Given the description of an element on the screen output the (x, y) to click on. 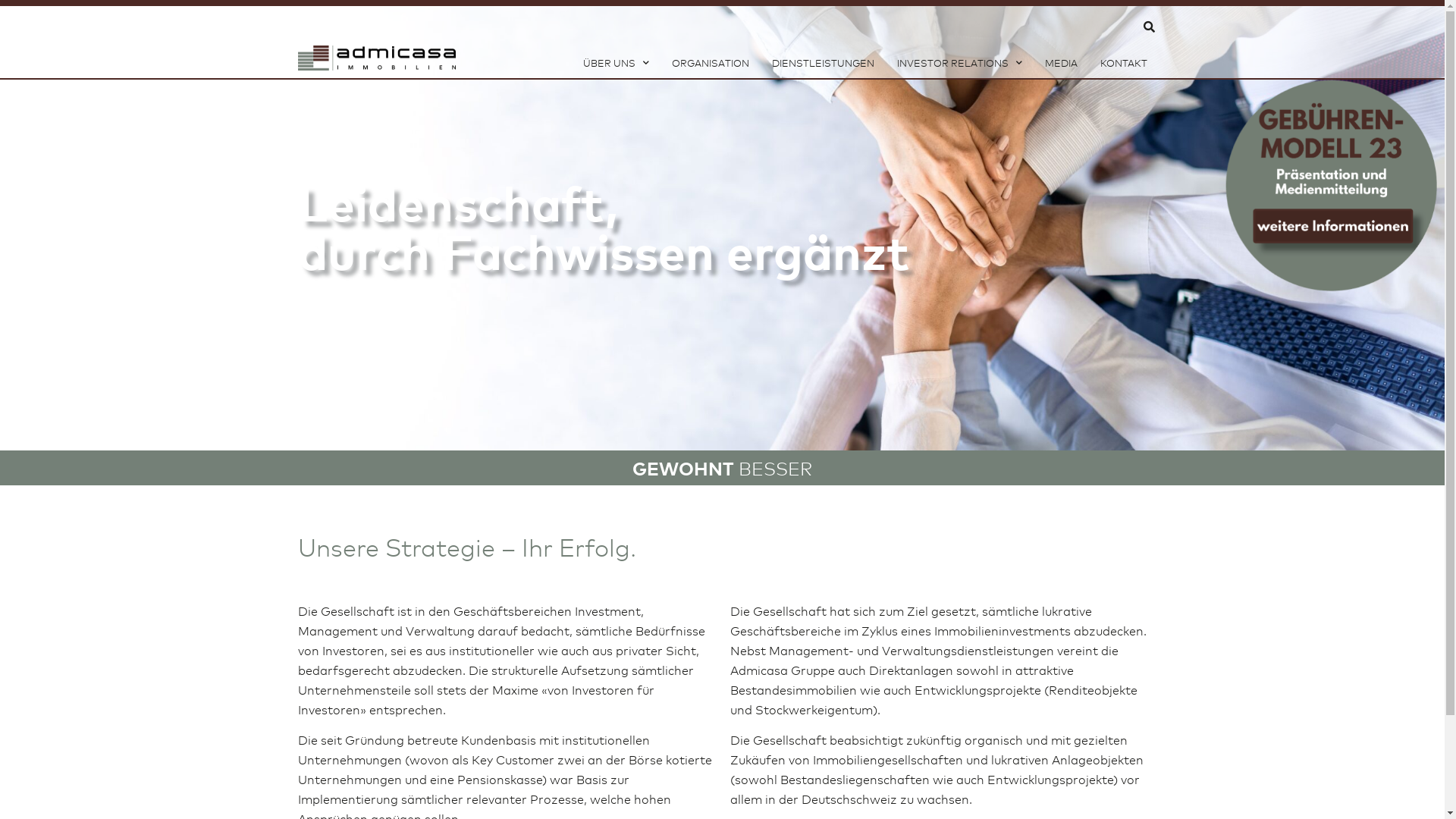
KONTAKT Element type: text (1122, 62)
DIENSTLEISTUNGEN Element type: text (822, 62)
ORGANISATION Element type: text (710, 62)
MEDIA Element type: text (1060, 62)
INVESTOR RELATIONS Element type: text (958, 62)
Suche Element type: text (722, 56)
